Given the description of an element on the screen output the (x, y) to click on. 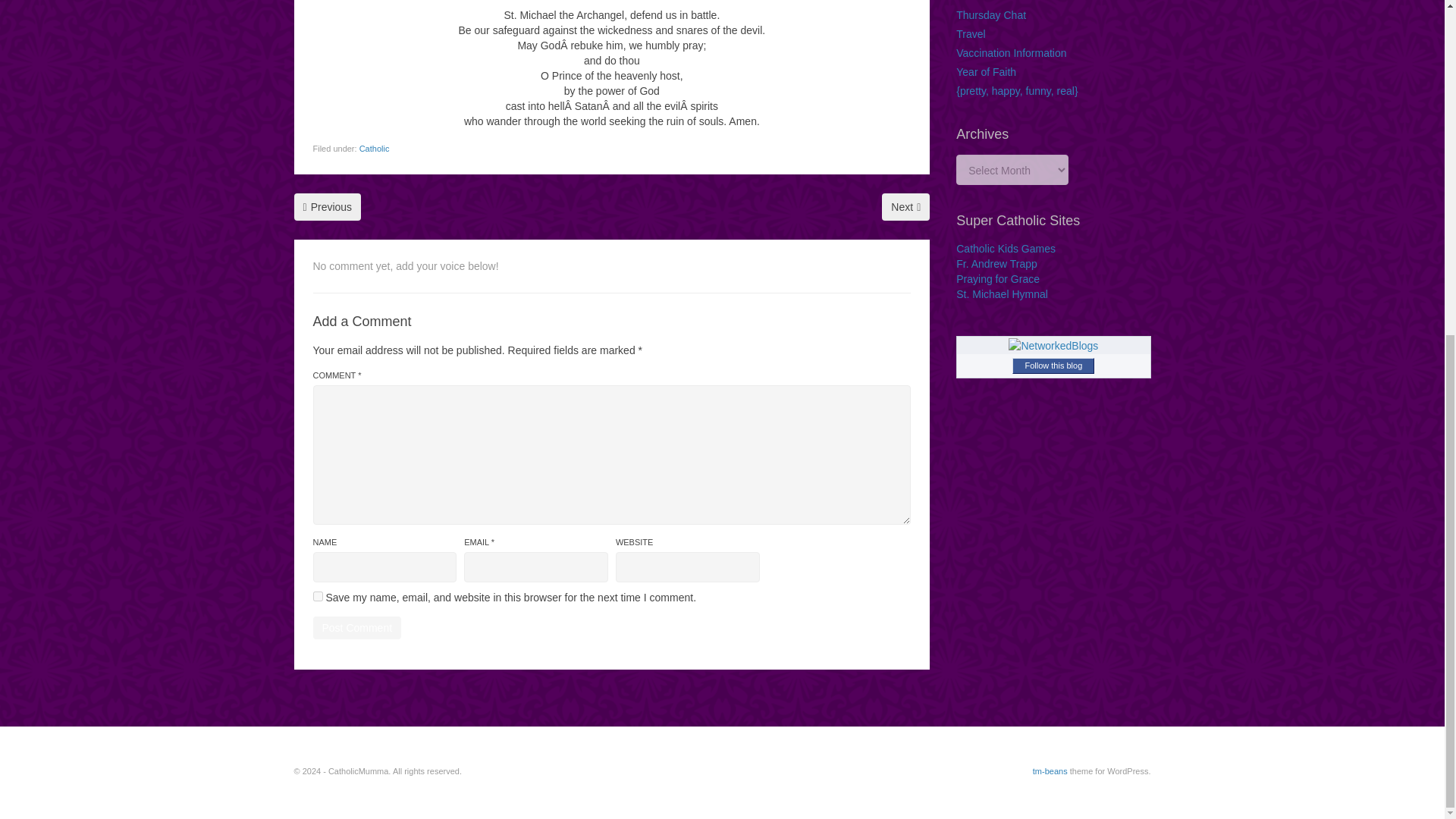
Travel (970, 33)
Thursday Chat (991, 15)
Post Comment (357, 627)
St. Michael Hymnal (1002, 294)
NetworkedBlogs (1053, 345)
Fr. Andrew Trapp (996, 263)
Next (906, 206)
Vaccination Information (1010, 52)
Previous (327, 206)
Follow this blog (1052, 365)
Jesus I Trust in You!  (906, 206)
this week in saints (999, 1)
yes (317, 596)
Year of Faith (986, 71)
